Given the description of an element on the screen output the (x, y) to click on. 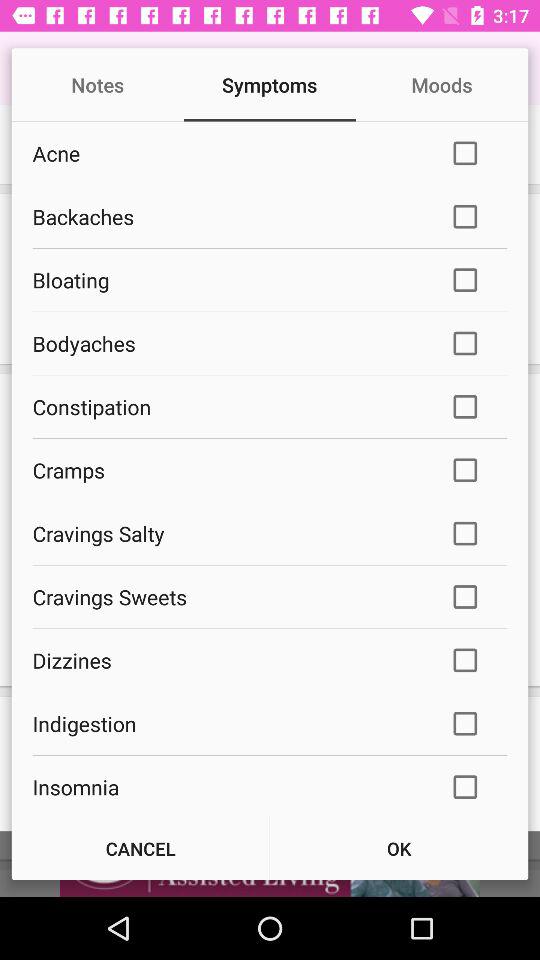
press the icon below backaches icon (227, 279)
